Given the description of an element on the screen output the (x, y) to click on. 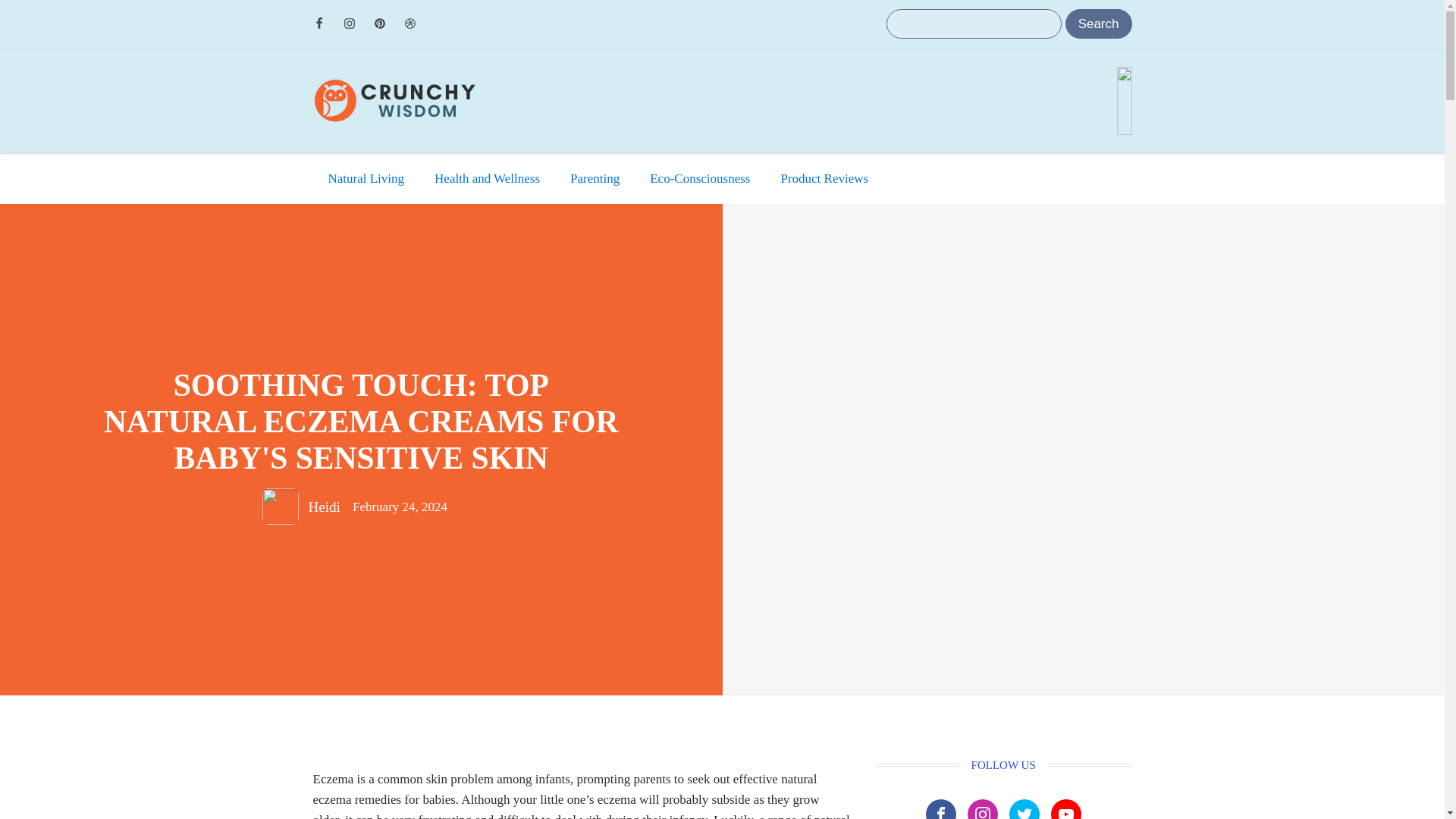
Product Reviews (824, 178)
Heidi (323, 506)
Natural Living (366, 178)
Eco-Consciousness (699, 178)
Search (1098, 23)
Search (1098, 23)
Parenting (594, 178)
Health and Wellness (486, 178)
